Given the description of an element on the screen output the (x, y) to click on. 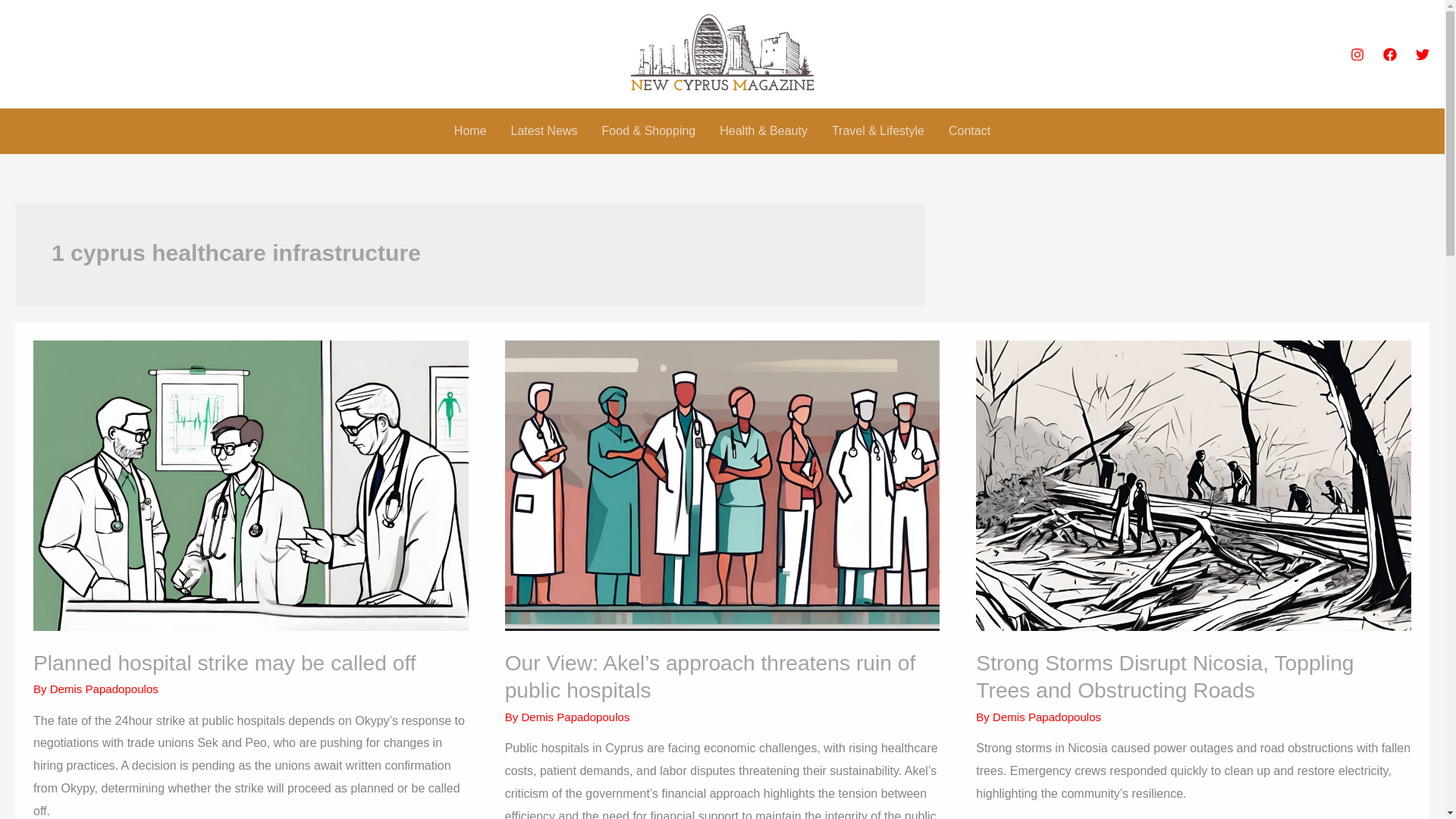
View all posts by Demis Papadopoulos (574, 716)
View all posts by Demis Papadopoulos (103, 688)
Latest News (544, 130)
Demis Papadopoulos (574, 716)
Demis Papadopoulos (1046, 716)
Contact (969, 130)
Demis Papadopoulos (103, 688)
Planned hospital strike may be called off (224, 662)
Home (470, 130)
View all posts by Demis Papadopoulos (1046, 716)
